Given the description of an element on the screen output the (x, y) to click on. 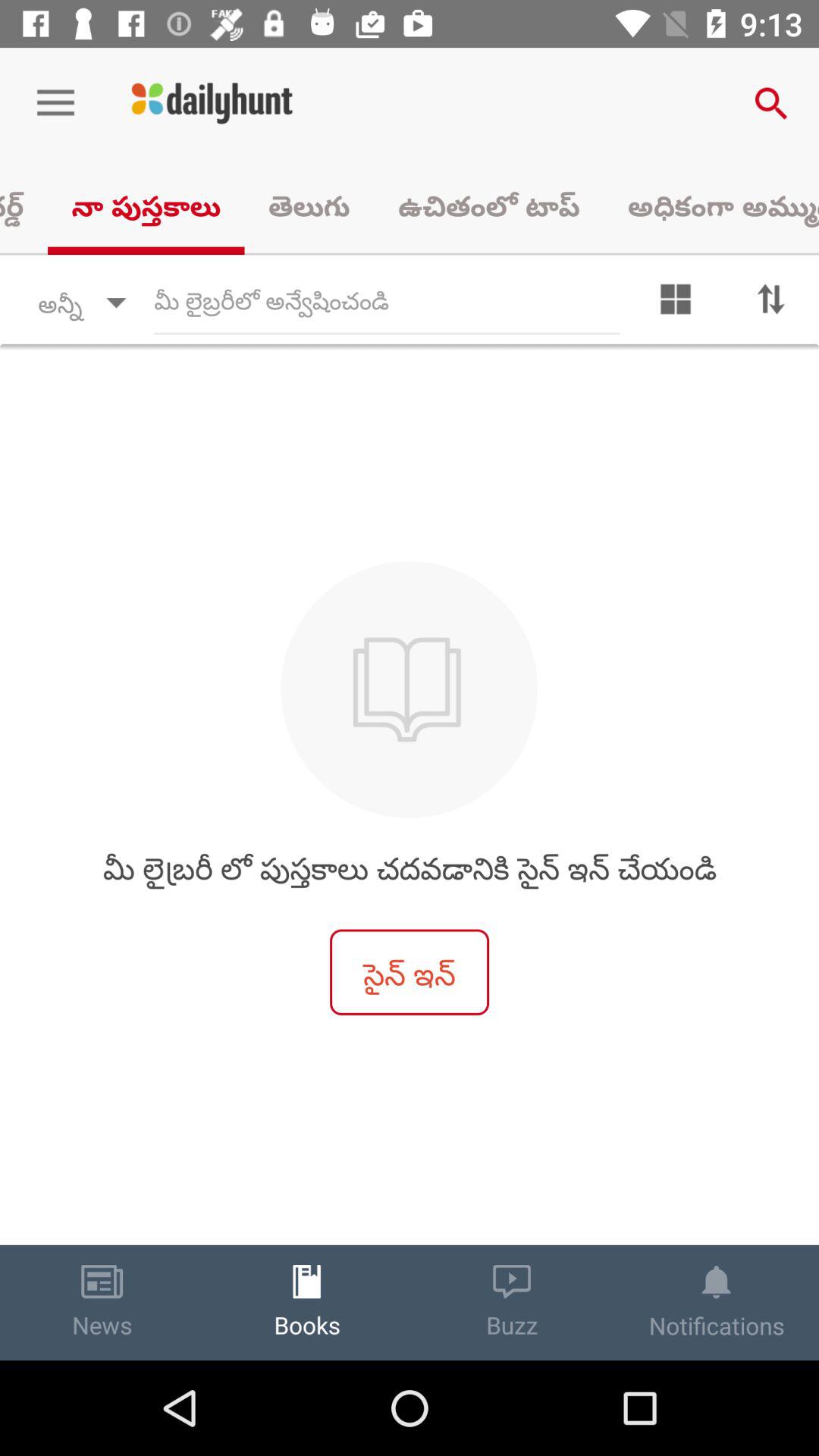
sort (771, 302)
